Given the description of an element on the screen output the (x, y) to click on. 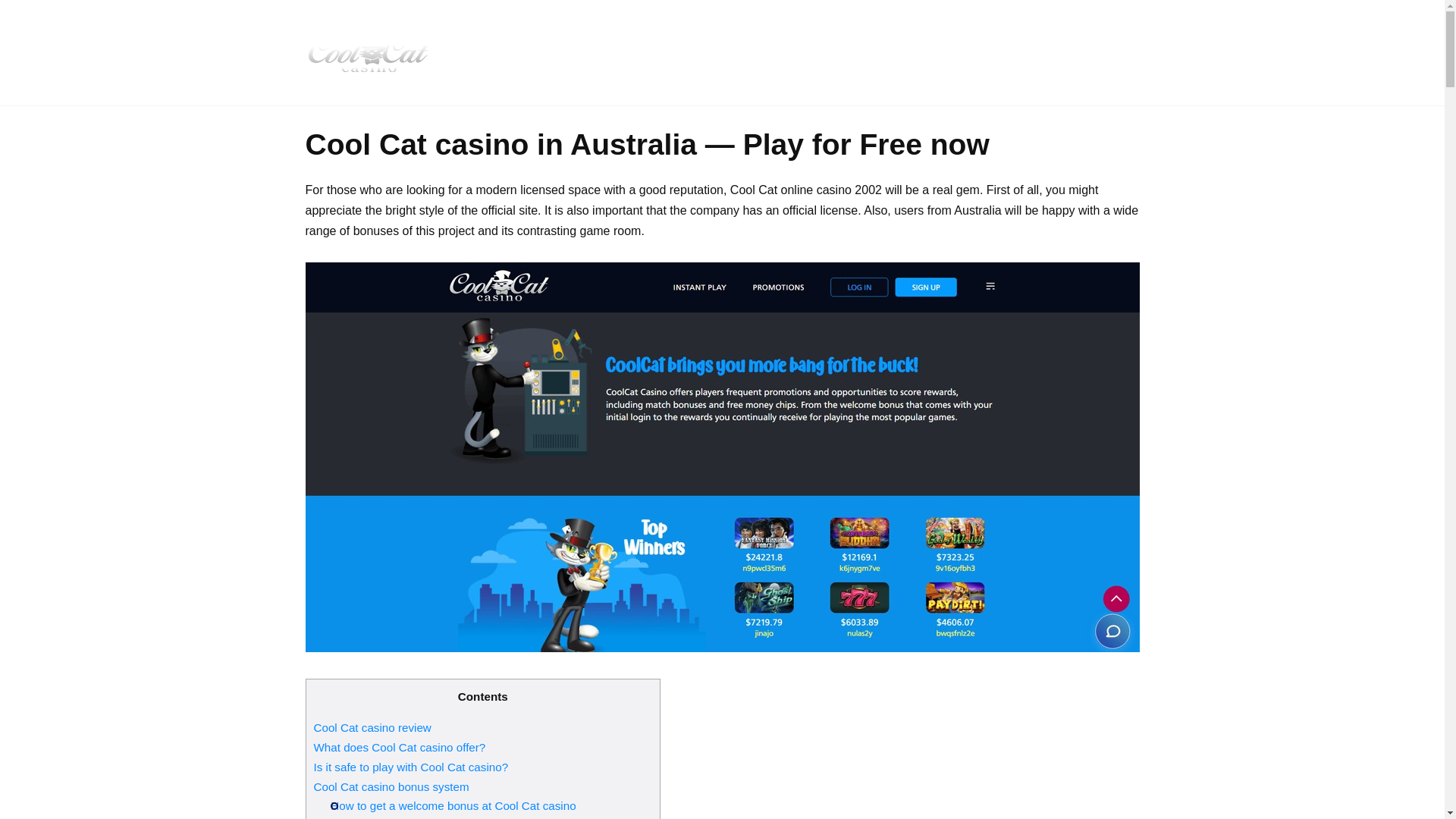
Is it safe to play with Cool Cat casino? (411, 766)
Cool Cat casino review (372, 727)
Cool Cat casino bonus system (391, 786)
How to get a welcome bonus at Cool Cat casino (452, 805)
What does Cool Cat casino offer? (400, 747)
